Given the description of an element on the screen output the (x, y) to click on. 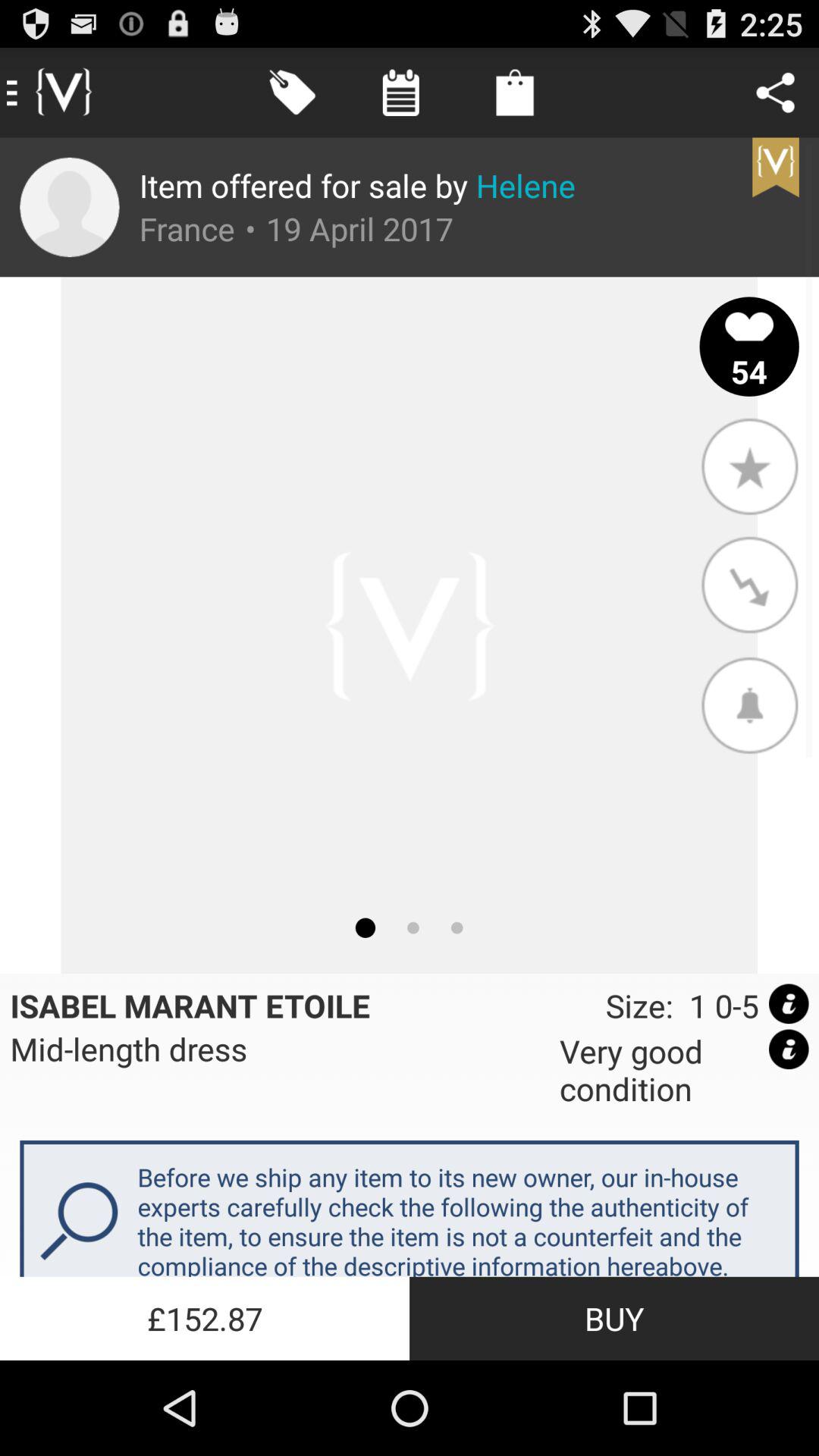
swipe to the item offered for icon (357, 185)
